Given the description of an element on the screen output the (x, y) to click on. 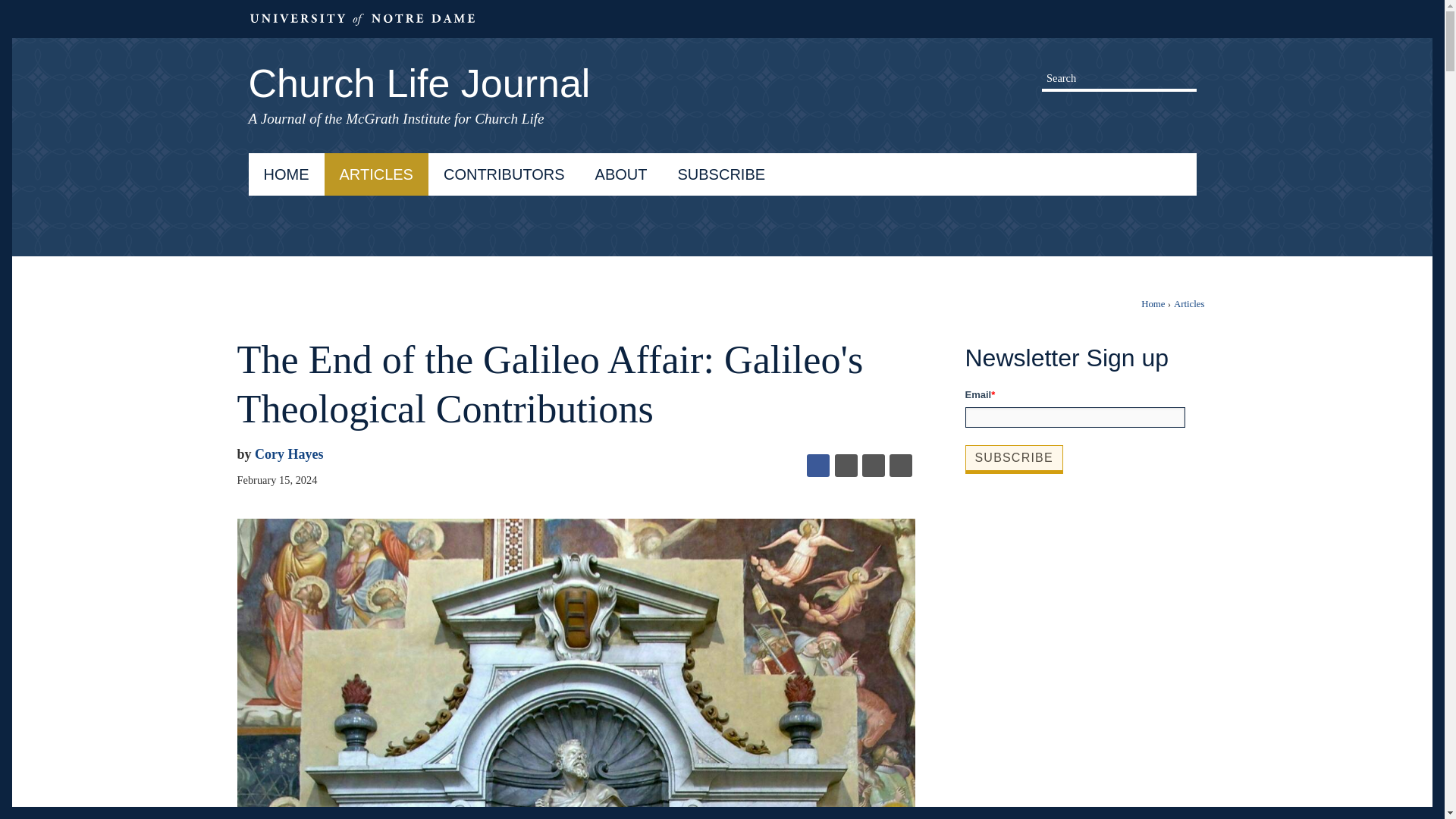
McGrath Institute for Church Life (445, 118)
Subscribe (1012, 458)
Instagram (1161, 114)
Church Life Journal (722, 70)
Email (873, 465)
SUBSCRIBE (721, 174)
ARTICLES (376, 174)
ABOUT (620, 174)
CONTRIBUTORS (503, 174)
Print (900, 465)
Home (1152, 303)
Facebook (817, 465)
HOME (286, 174)
Facebook (1133, 114)
Articles (1189, 303)
